Given the description of an element on the screen output the (x, y) to click on. 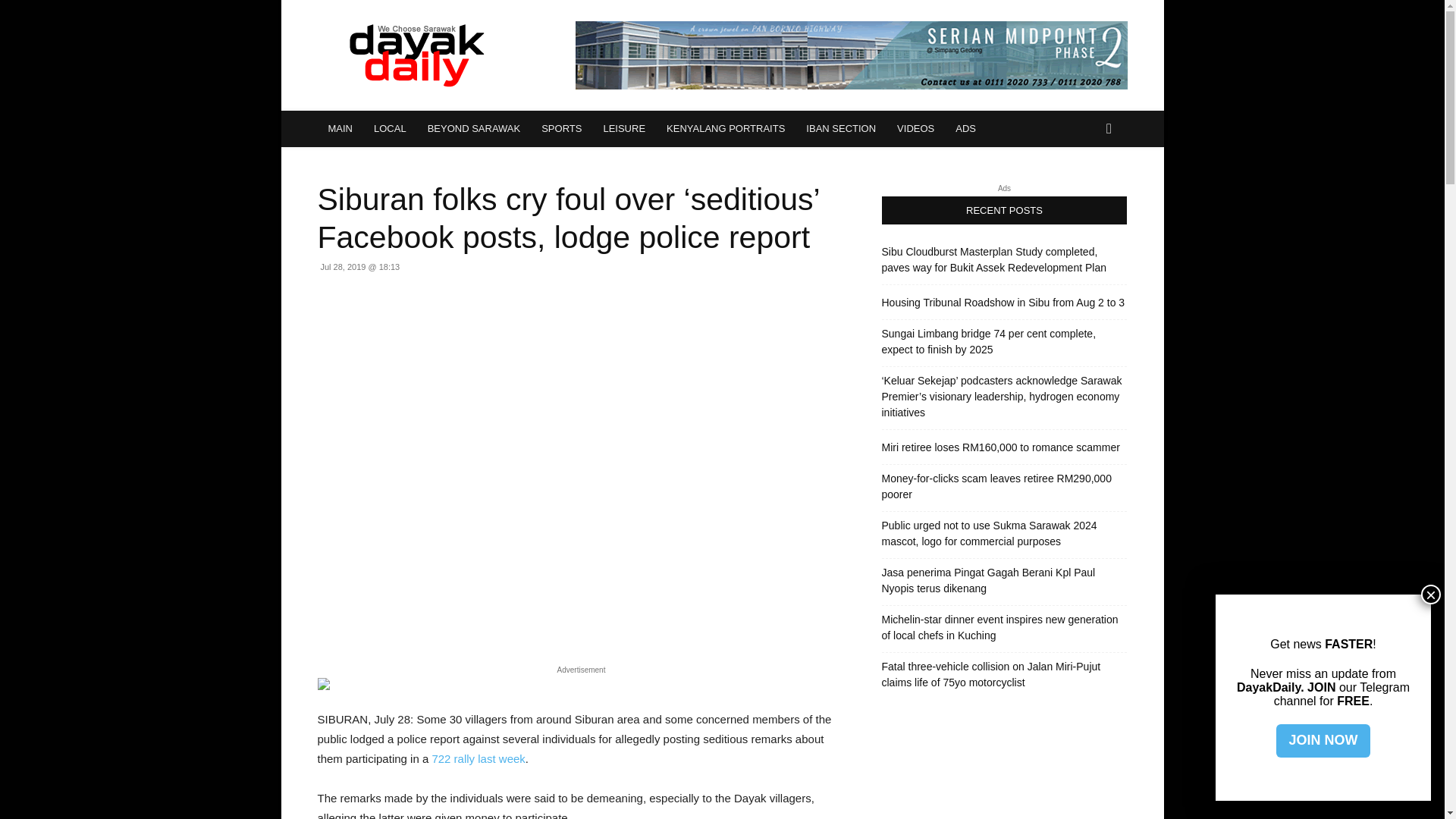
LEISURE (624, 128)
KENYALANG PORTRAITS (725, 128)
IBAN SECTION (840, 128)
ADS (965, 128)
VIDEOS (915, 128)
BEYOND SARAWAK (473, 128)
LOCAL (389, 128)
Search (1085, 189)
SPORTS (561, 128)
MAIN (339, 128)
